Given the description of an element on the screen output the (x, y) to click on. 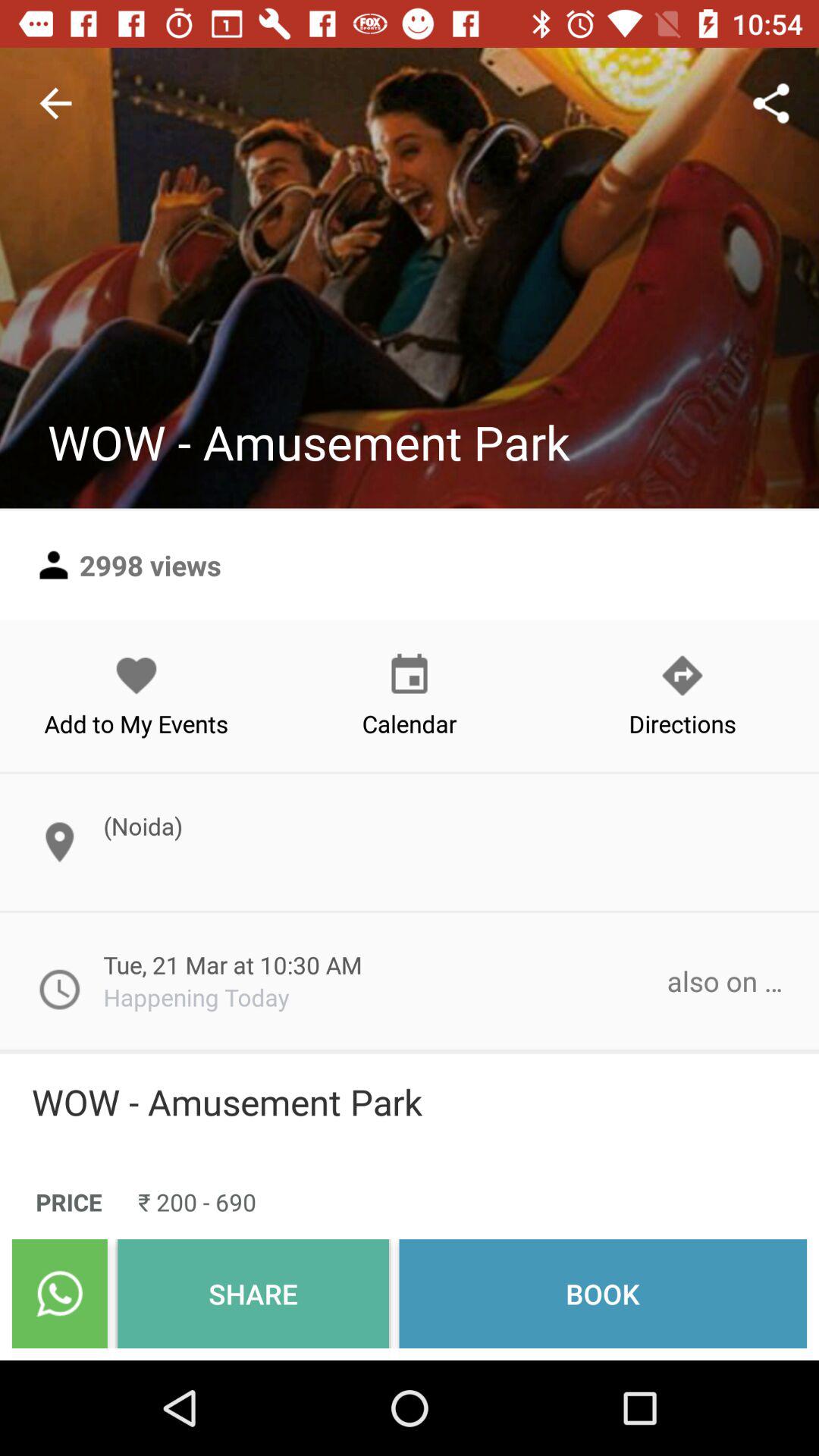
open the icon to the right of share icon (603, 1293)
